Given the description of an element on the screen output the (x, y) to click on. 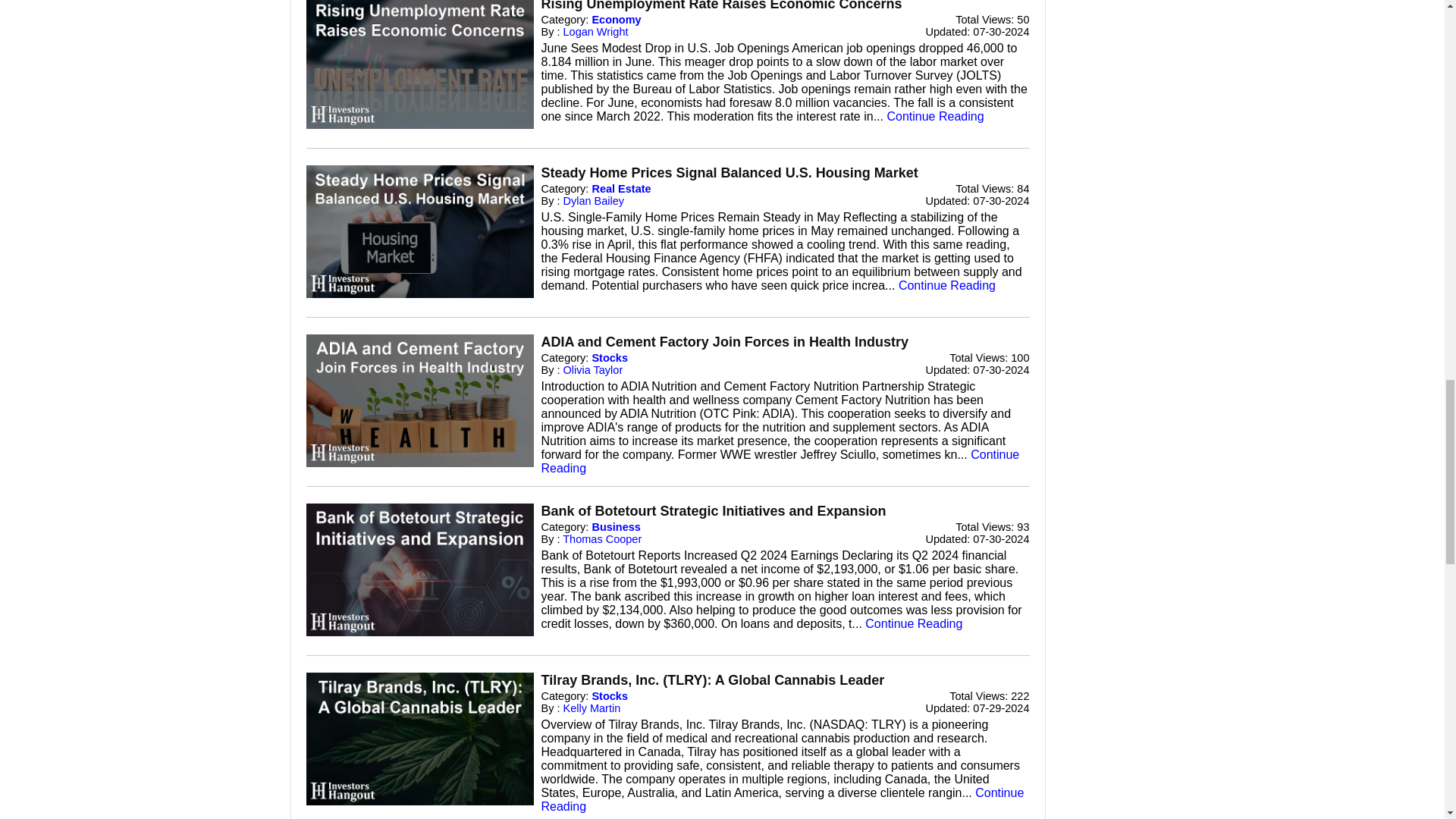
Blog Category: Economy (615, 19)
